Given the description of an element on the screen output the (x, y) to click on. 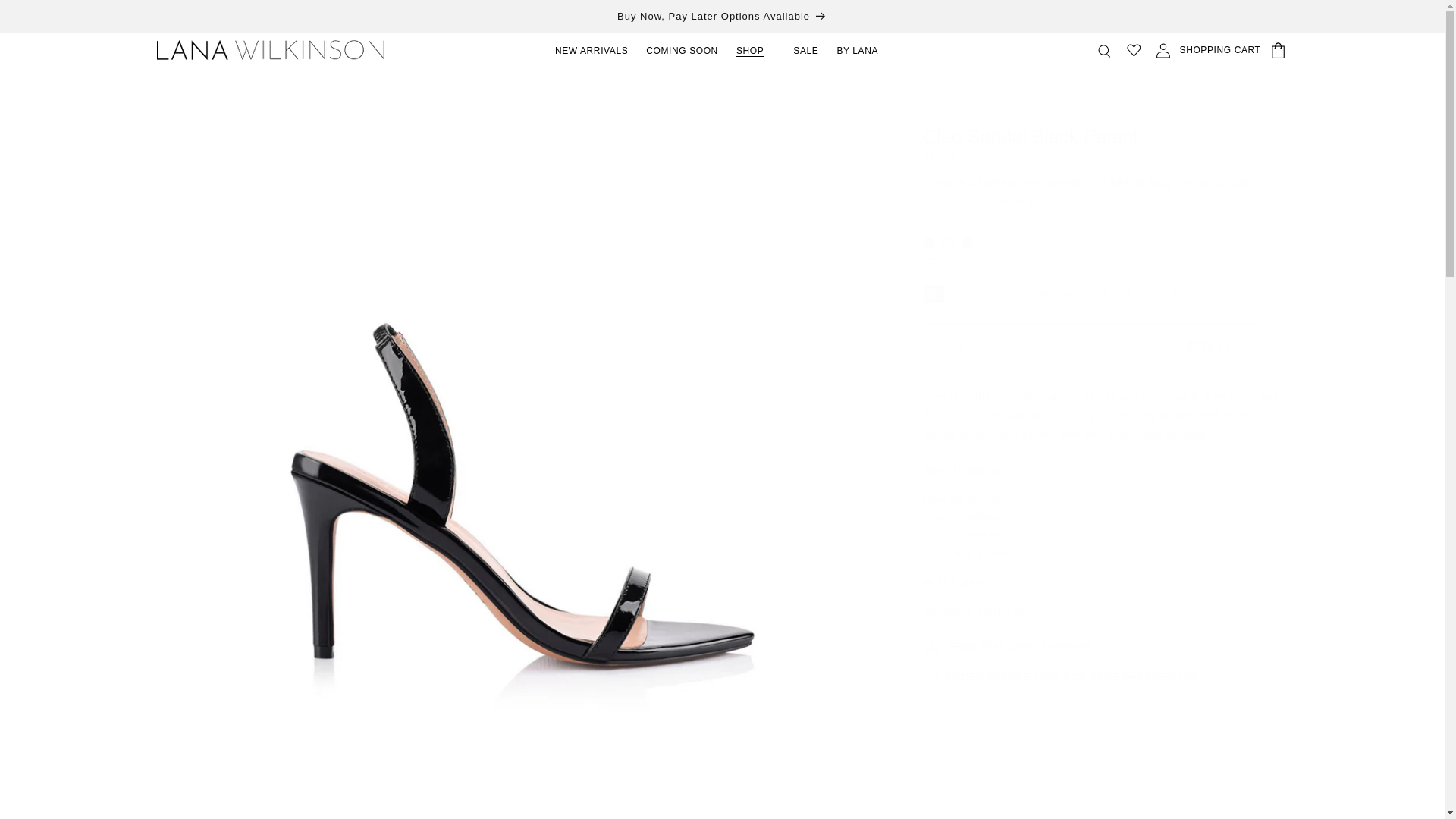
Buy Now, Pay Later Options Available (721, 16)
SKIP TO CONTENT (45, 15)
COMING SOON (681, 50)
NEW ARRIVALS (591, 50)
